Given the description of an element on the screen output the (x, y) to click on. 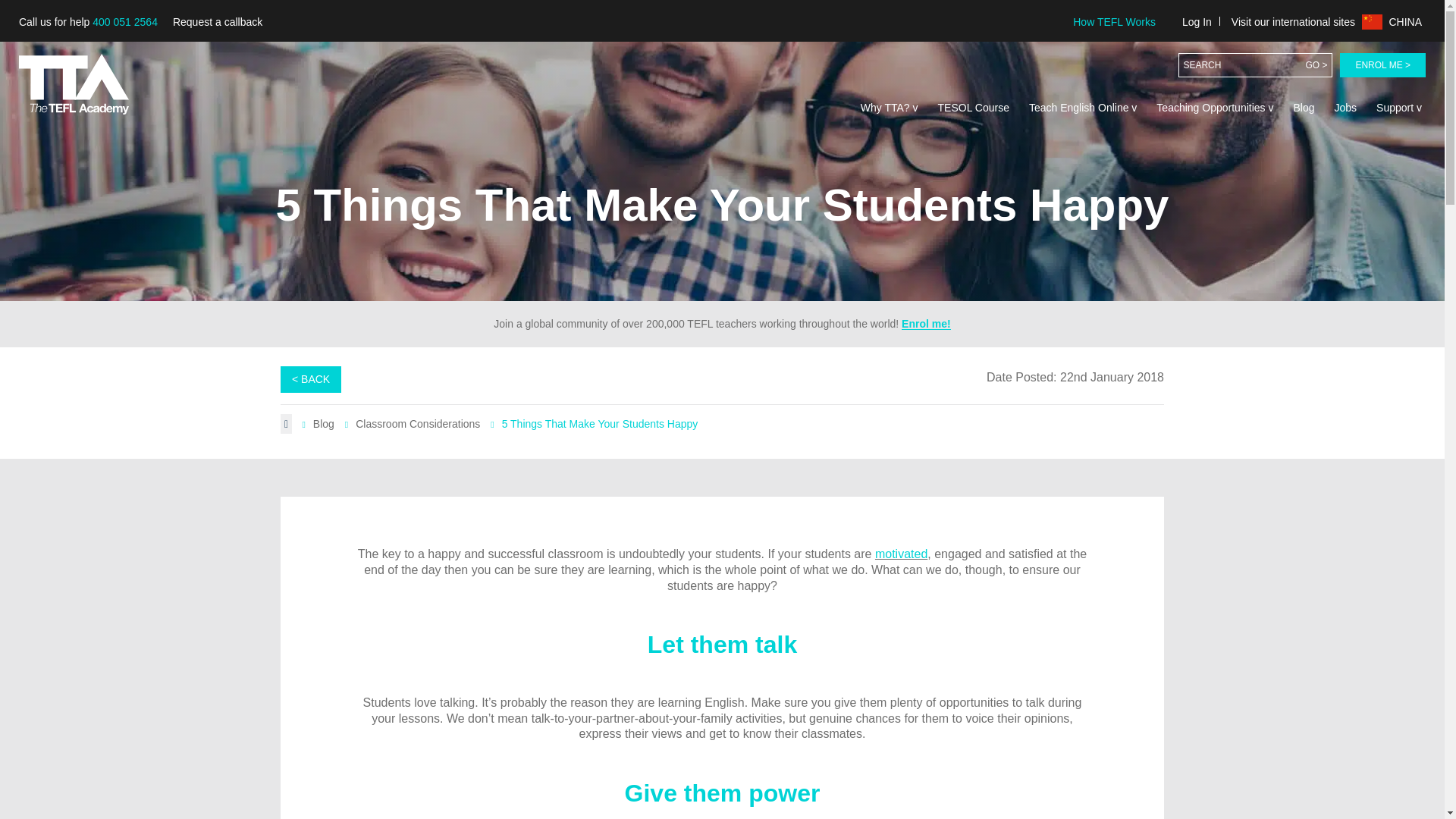
TESOL Course (973, 107)
400 051 2564 (125, 21)
Teach English Online v (1082, 107)
Why TTA? v (889, 107)
Log In (1196, 20)
Why TTA? (889, 107)
How TEFL Works (1113, 20)
Visit our international sites CHINA (1326, 20)
How TEFL Works (1113, 20)
Request a callback (217, 22)
